Given the description of an element on the screen output the (x, y) to click on. 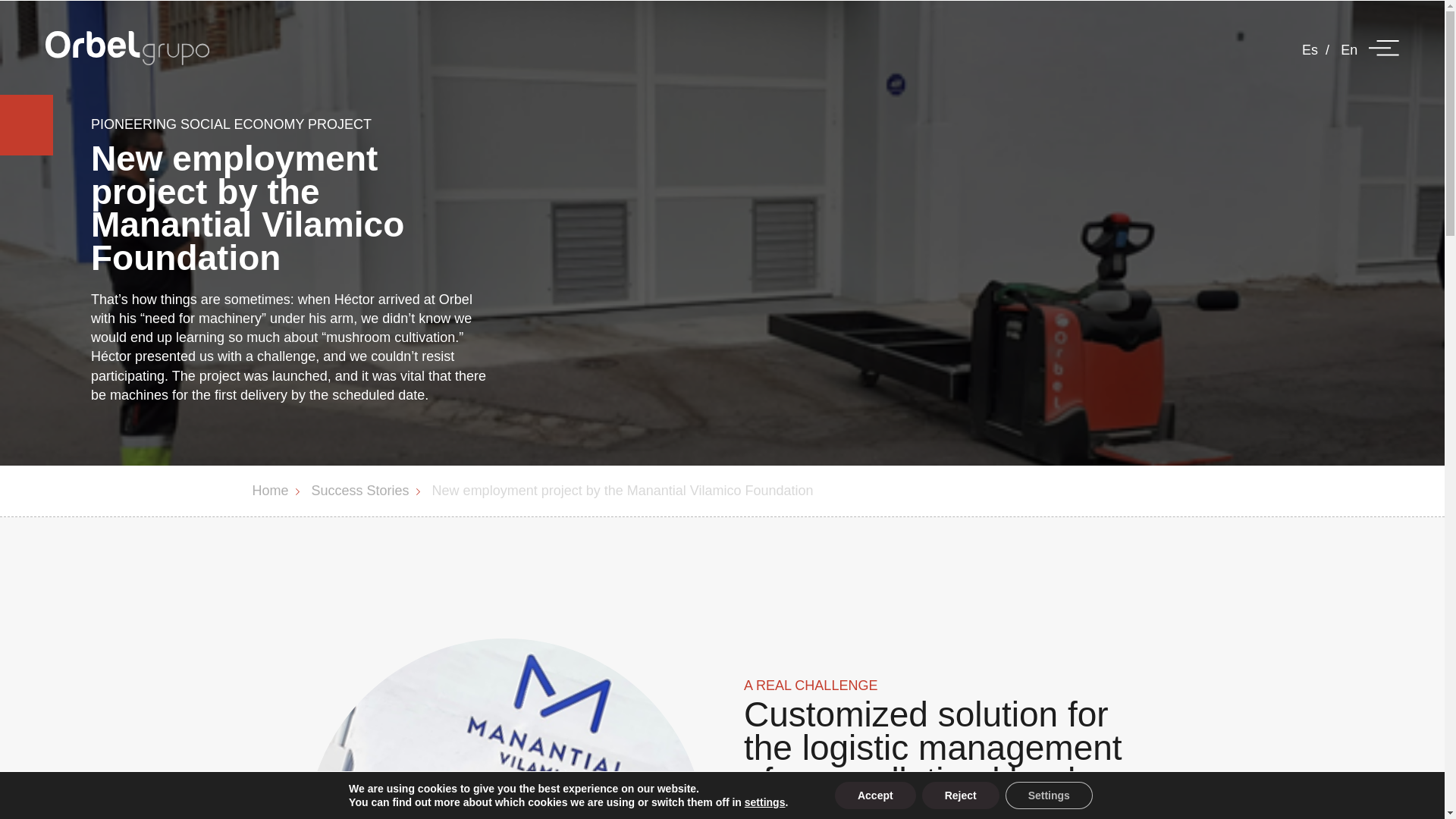
New employment project by the Manantial Vilamico Foundation (622, 490)
Home (269, 490)
Success Stories (360, 490)
Es (1307, 49)
En (1346, 49)
